Given the description of an element on the screen output the (x, y) to click on. 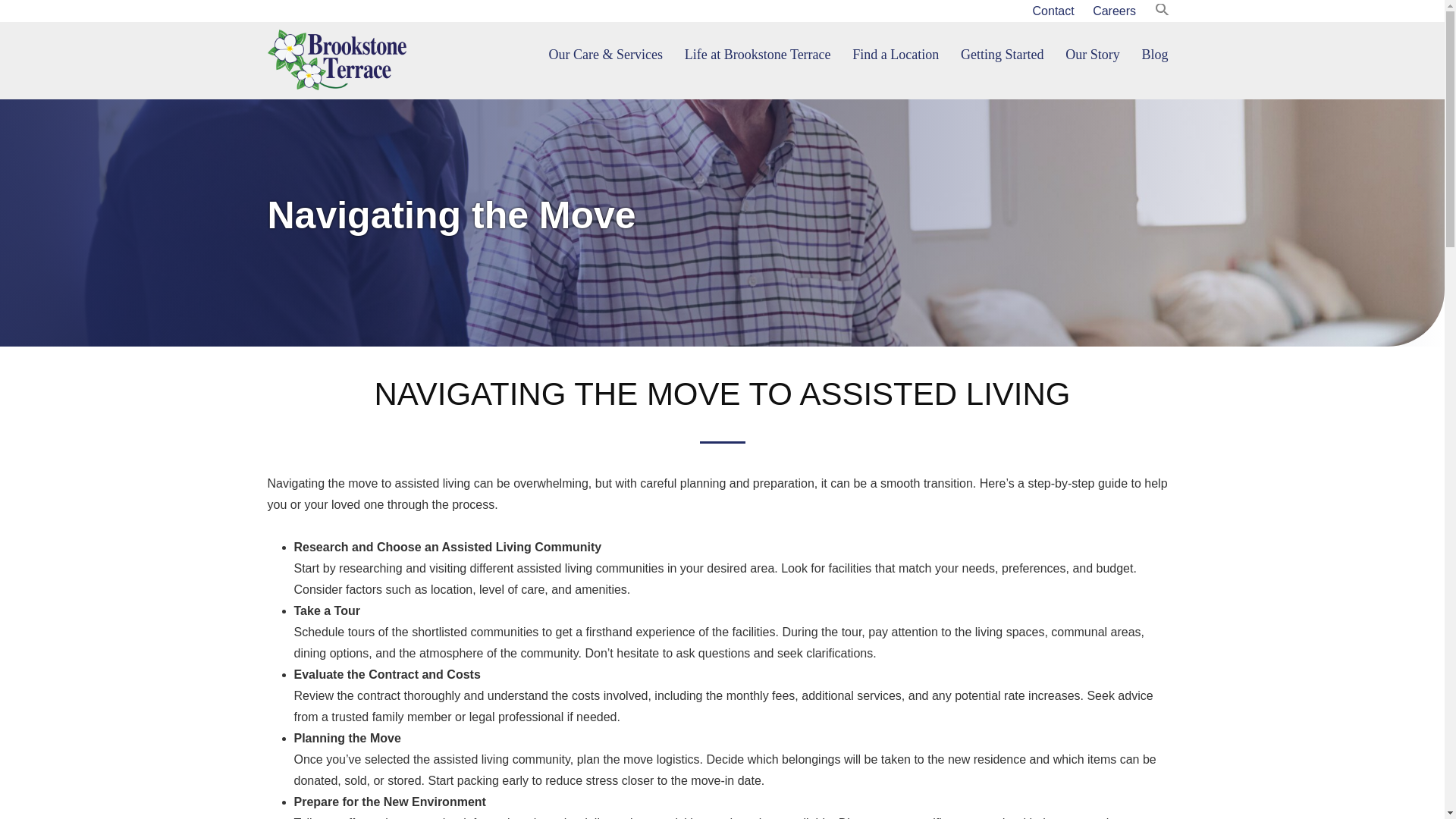
Careers (1113, 10)
Life at Brookstone Terrace (757, 54)
Find a Location (895, 54)
Contact (1053, 10)
